Given the description of an element on the screen output the (x, y) to click on. 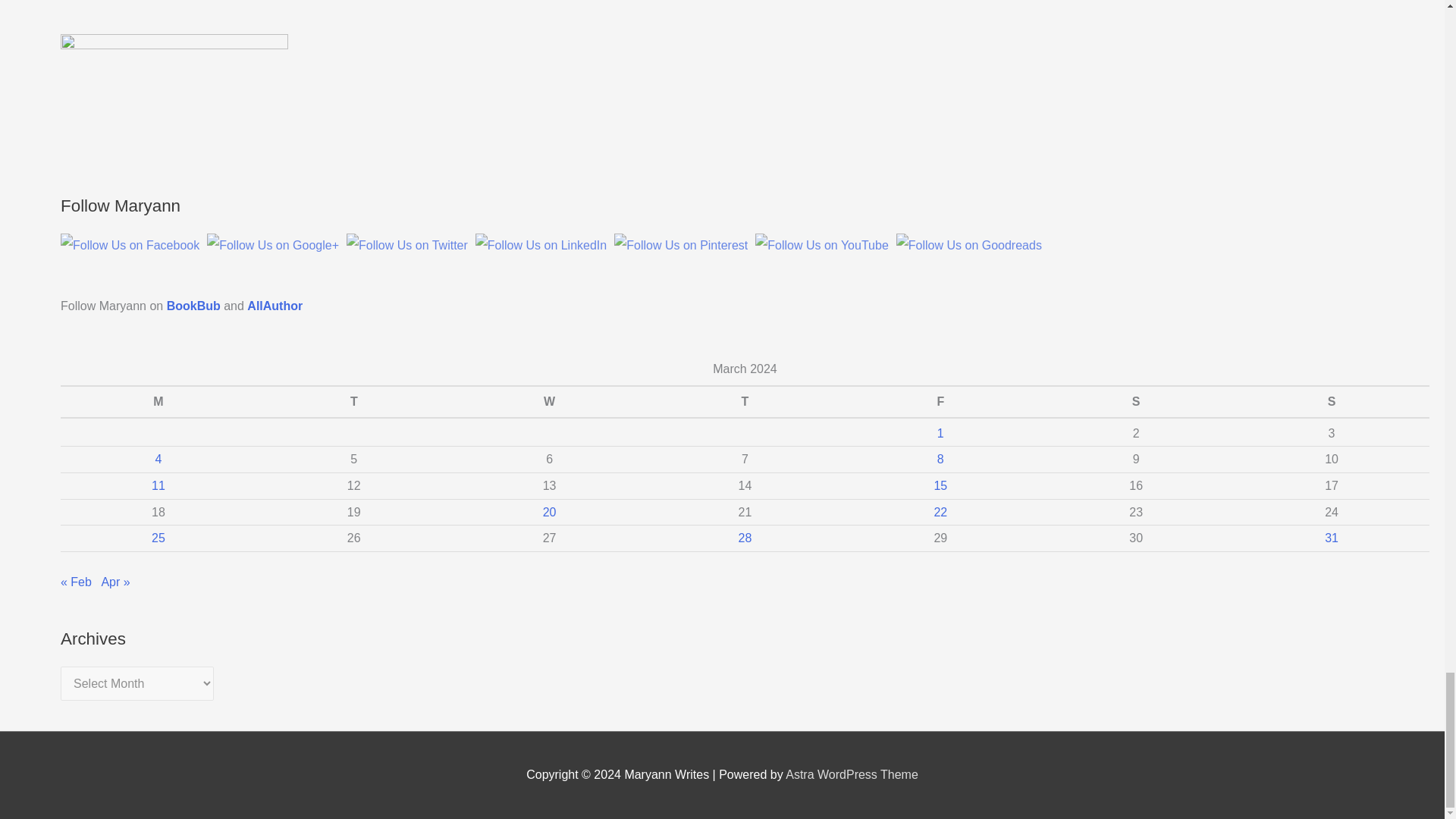
Follow Us on LinkedIn (541, 245)
Tuesday (353, 401)
Wednesday (549, 401)
Follow Us on Pinterest (681, 245)
Follow Us on YouTube (821, 245)
Follow Us on Facebook (130, 245)
Thursday (745, 401)
Follow Us on Twitter (406, 245)
Monday (158, 401)
Follow Us on Goodreads (969, 245)
